Given the description of an element on the screen output the (x, y) to click on. 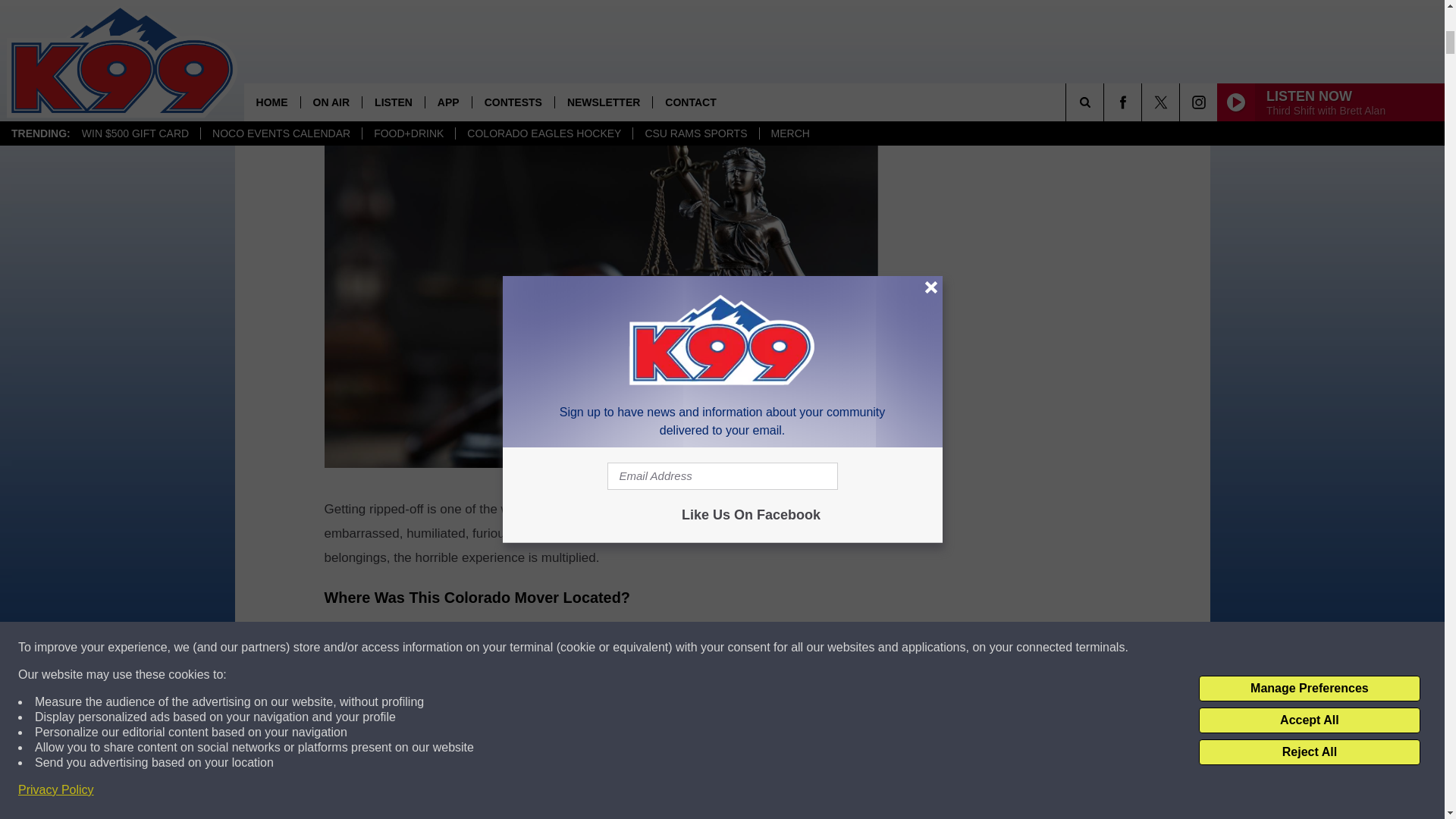
Email Address (600, 50)
